Given the description of an element on the screen output the (x, y) to click on. 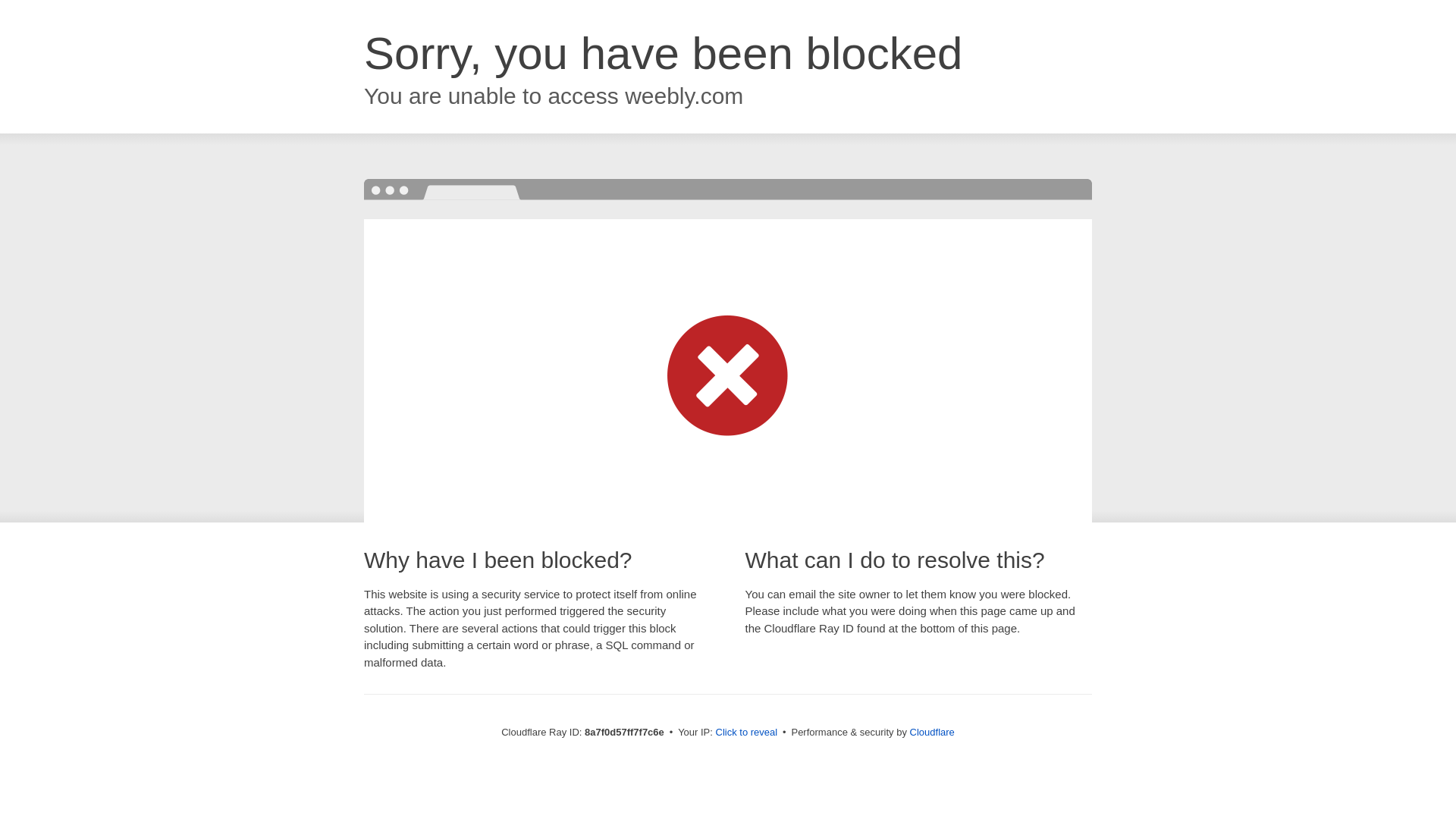
Click to reveal (746, 732)
Cloudflare (932, 731)
